Given the description of an element on the screen output the (x, y) to click on. 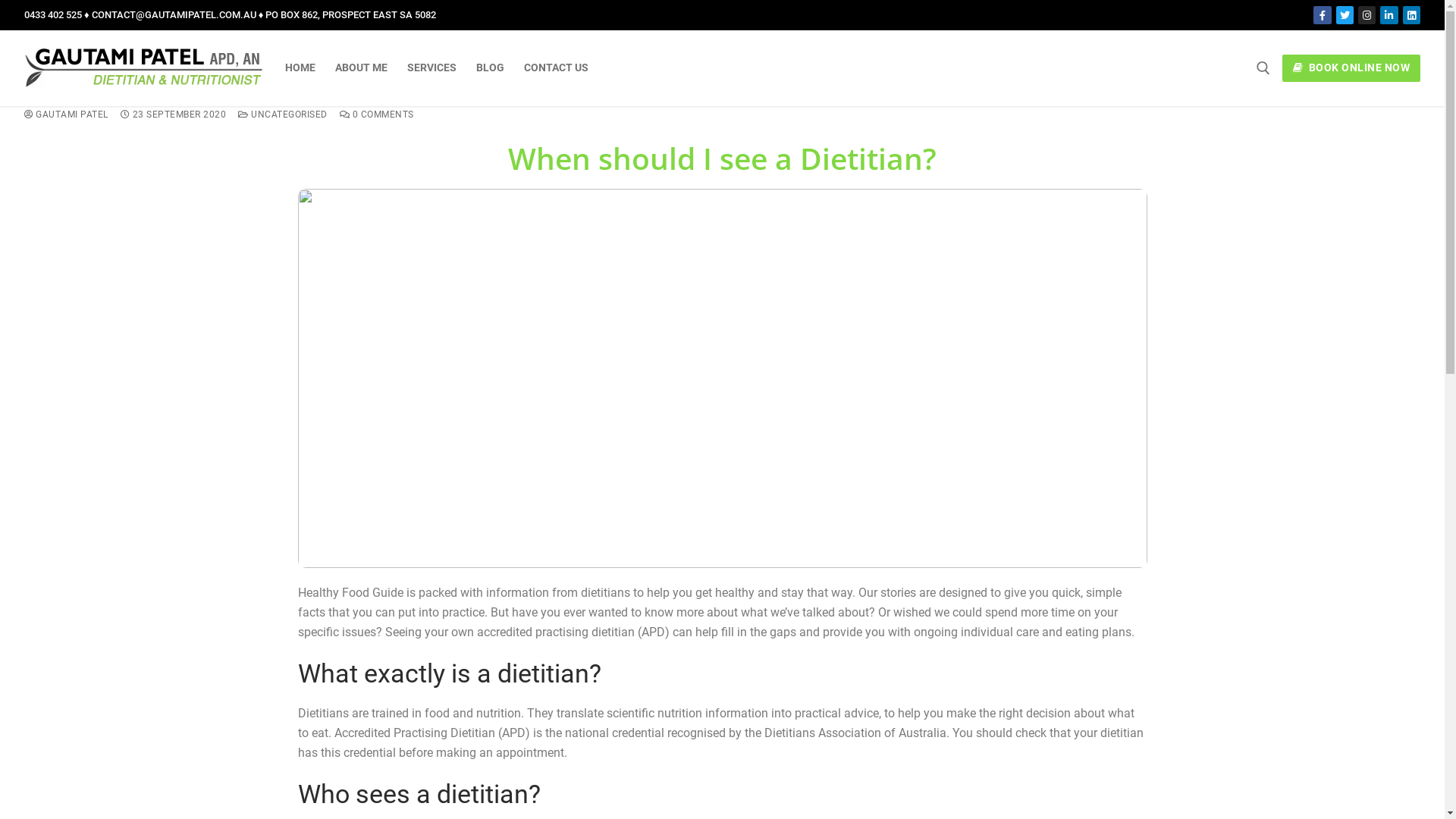
SERVICES Element type: text (431, 67)
BOOK ONLINE NOW Element type: text (1351, 68)
LinkedIn Personal Element type: hover (1411, 15)
LinkedIn Company Element type: hover (1388, 15)
23 SEPTEMBER 2020 Element type: text (172, 114)
BLOG Element type: text (490, 67)
Facebook Element type: hover (1322, 15)
GAUTAMI PATEL Element type: text (66, 114)
HOME Element type: text (300, 67)
CONTACT US Element type: text (556, 67)
UNCATEGORISED Element type: text (282, 114)
0 COMMENTS Element type: text (376, 114)
Twitter Element type: hover (1344, 15)
Instagram Element type: hover (1366, 15)
ABOUT ME Element type: text (361, 67)
